Given the description of an element on the screen output the (x, y) to click on. 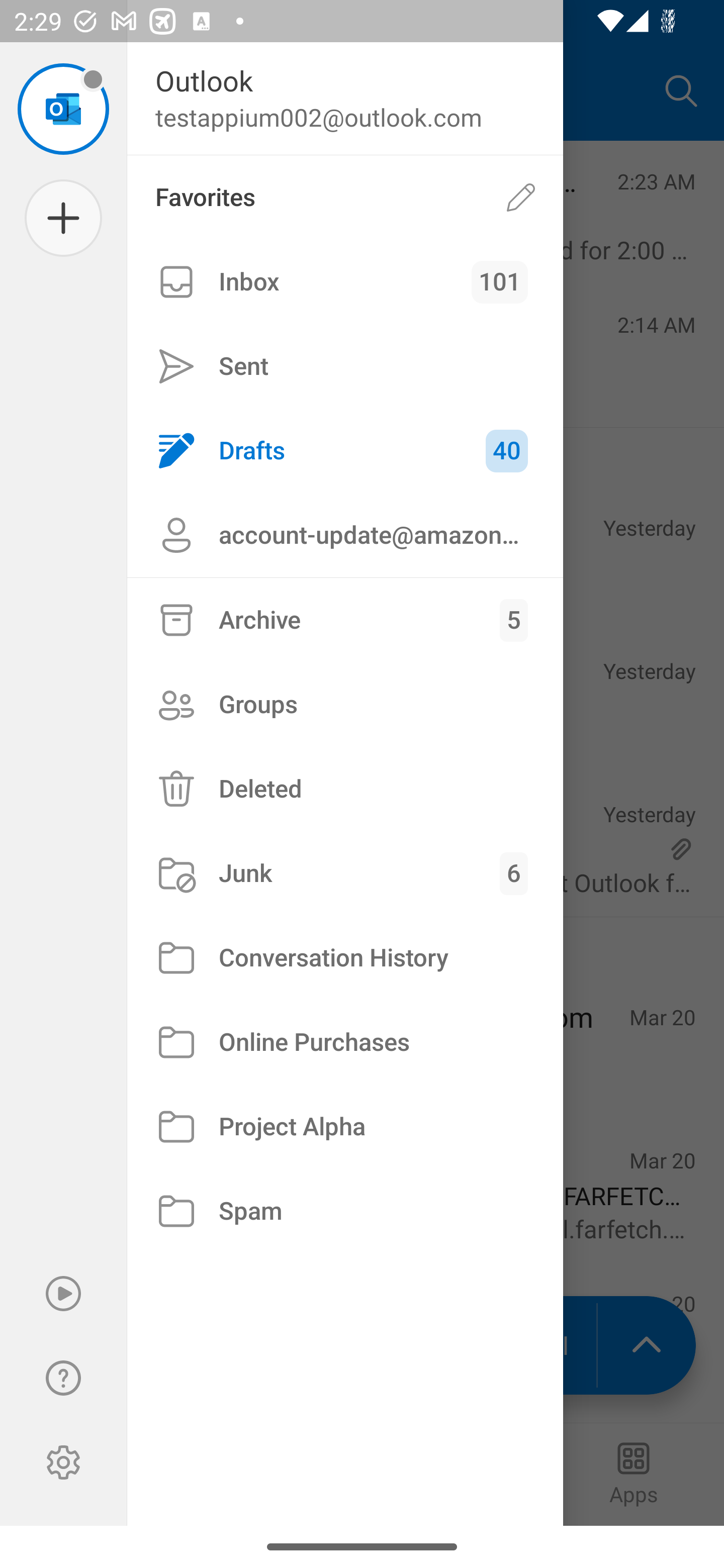
Edit favorites (520, 197)
Add account (63, 217)
Inbox Inbox, 101 unread emails (345, 281)
Sent (345, 366)
Drafts Drafts, 40 unread emails,Selected (345, 450)
account-update@amazon.com (345, 534)
Archive Archive, 2 of 9, level 1, 5 unread emails (345, 619)
Groups Groups, 3 of 9, level 1 (345, 703)
Deleted Deleted, 4 of 9, level 1 (345, 788)
Junk Junk, 5 of 9, level 1, 6 unread emails (345, 873)
Online Purchases Online Purchases, 7 of 9, level 1 (345, 1042)
Project Alpha Project Alpha, 8 of 9, level 1 (345, 1127)
Spam Spam, 9 of 9, level 1 (345, 1210)
Play My Emails (62, 1293)
Help (62, 1377)
Settings (62, 1462)
